Given the description of an element on the screen output the (x, y) to click on. 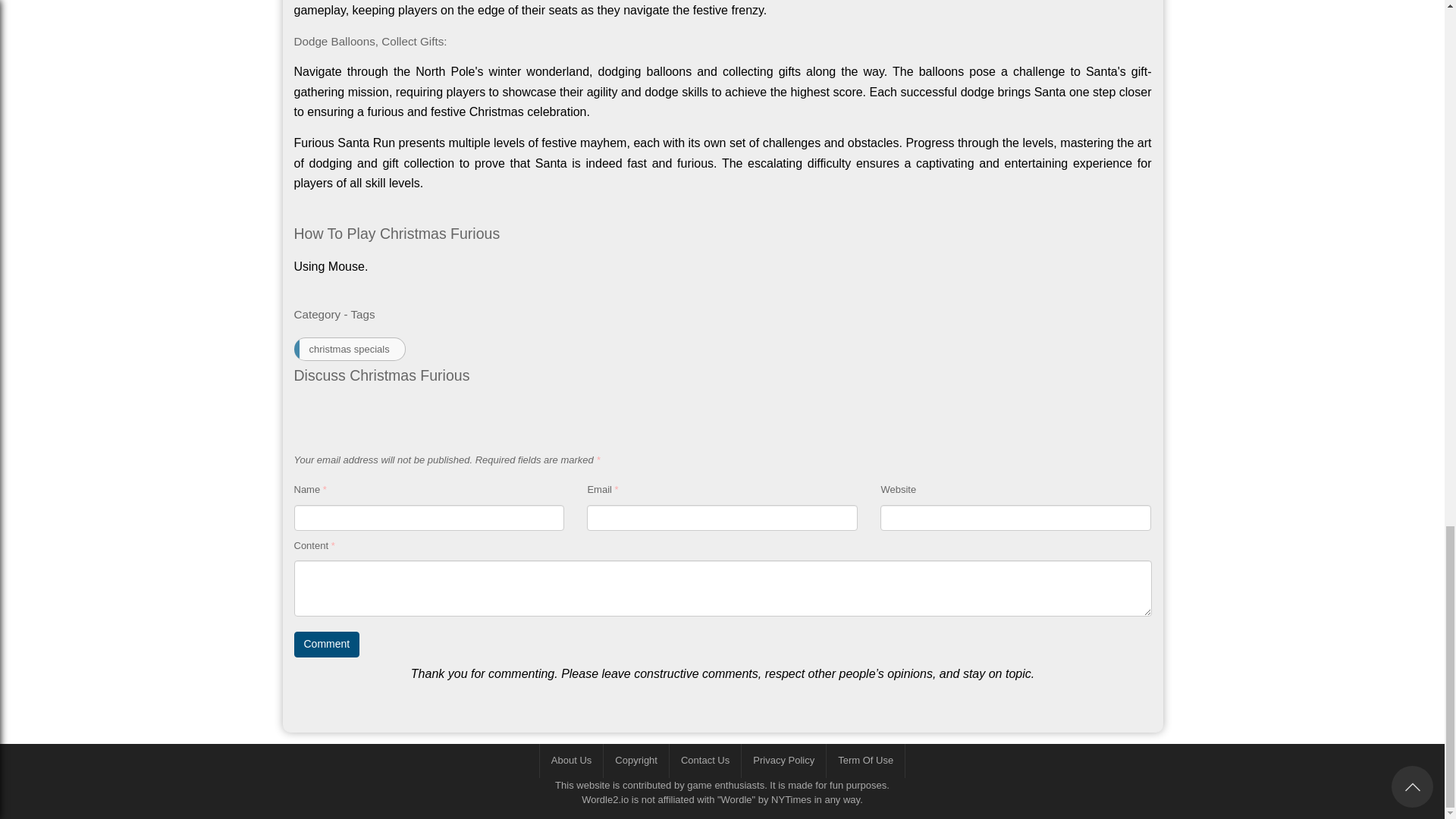
Copyright (635, 760)
Contact Us (704, 760)
Comment (326, 644)
christmas specials (350, 349)
About Us (570, 760)
Comment (326, 644)
Privacy Policy (783, 760)
